Given the description of an element on the screen output the (x, y) to click on. 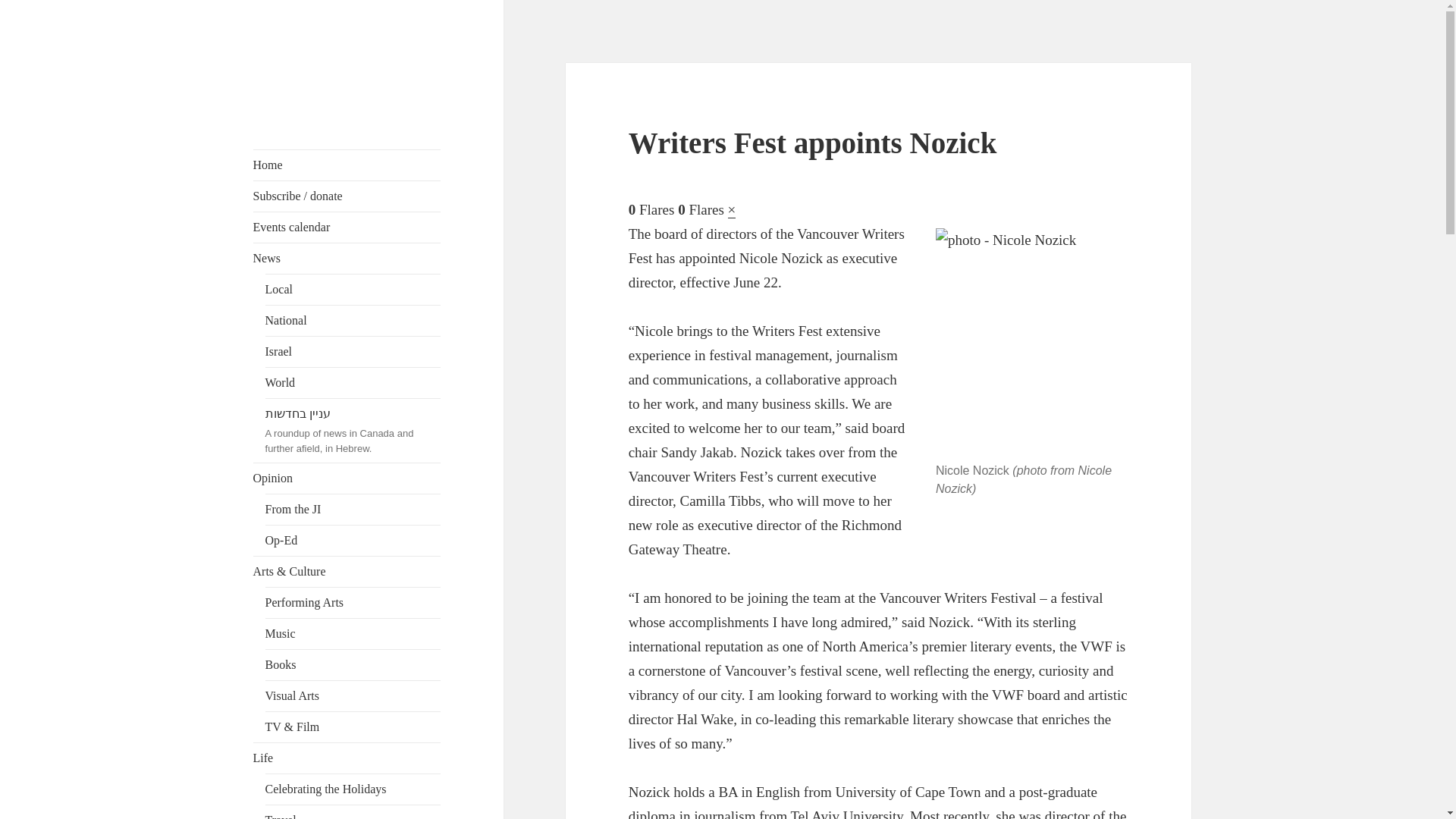
From the JI (352, 509)
Performing Arts (352, 603)
Israel (352, 351)
News (347, 258)
Life (347, 757)
Events calendar (347, 227)
Music (352, 634)
World (352, 382)
Opinion (347, 478)
Books (352, 665)
Local (352, 289)
Op-Ed (352, 540)
Celebrating the Holidays (352, 788)
Visual Arts (352, 695)
Travel (352, 812)
